Given the description of an element on the screen output the (x, y) to click on. 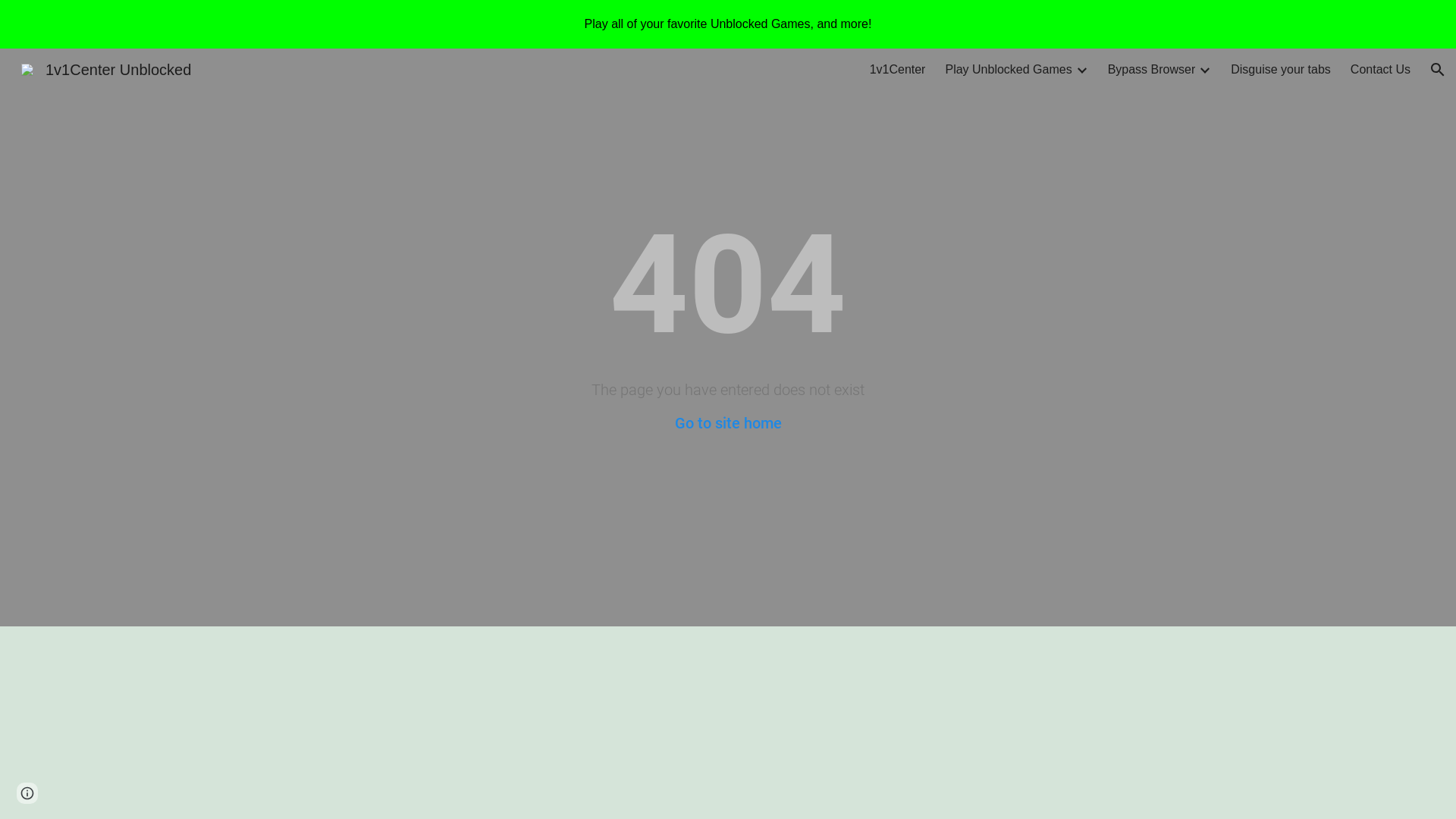
Expand/Collapse Element type: hover (1204, 69)
Go to site home Element type: text (727, 423)
Expand/Collapse Element type: hover (1081, 69)
Bypass Browser Element type: text (1151, 69)
Contact Us Element type: text (1380, 69)
1v1Center Element type: text (897, 69)
Disguise your tabs Element type: text (1280, 69)
Play Unblocked Games Element type: text (1007, 69)
1v1Center Unblocked Element type: text (106, 67)
